Given the description of an element on the screen output the (x, y) to click on. 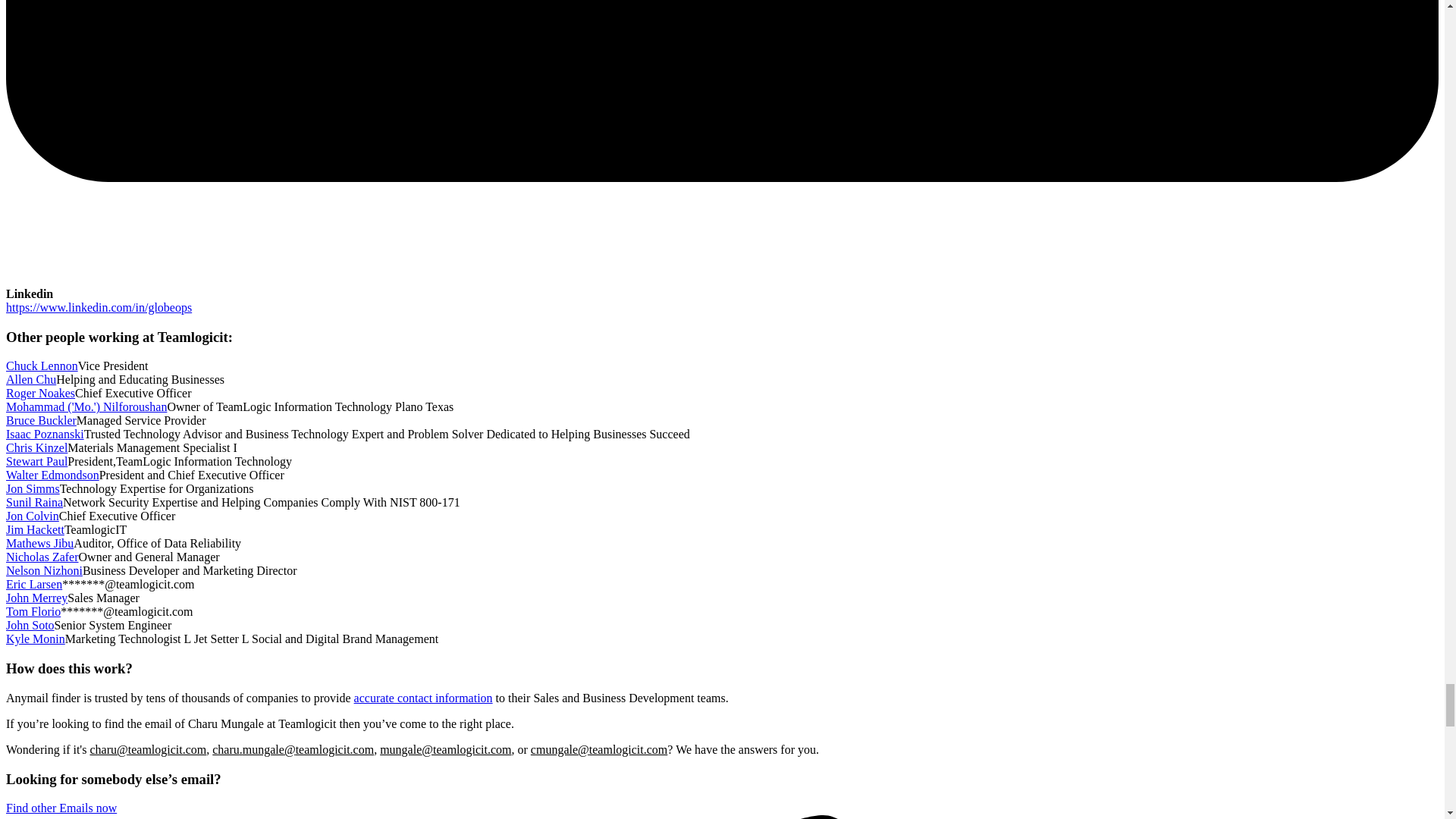
Jim Hackett (34, 529)
Find other Emails now (60, 807)
Nicholas Zafer (41, 556)
Tom Florio (33, 611)
Chris Kinzel (35, 447)
John Merrey (35, 597)
accurate contact information (423, 697)
Nelson Nizhoni (43, 570)
Allen Chu (30, 379)
Stewart Paul (35, 461)
